Given the description of an element on the screen output the (x, y) to click on. 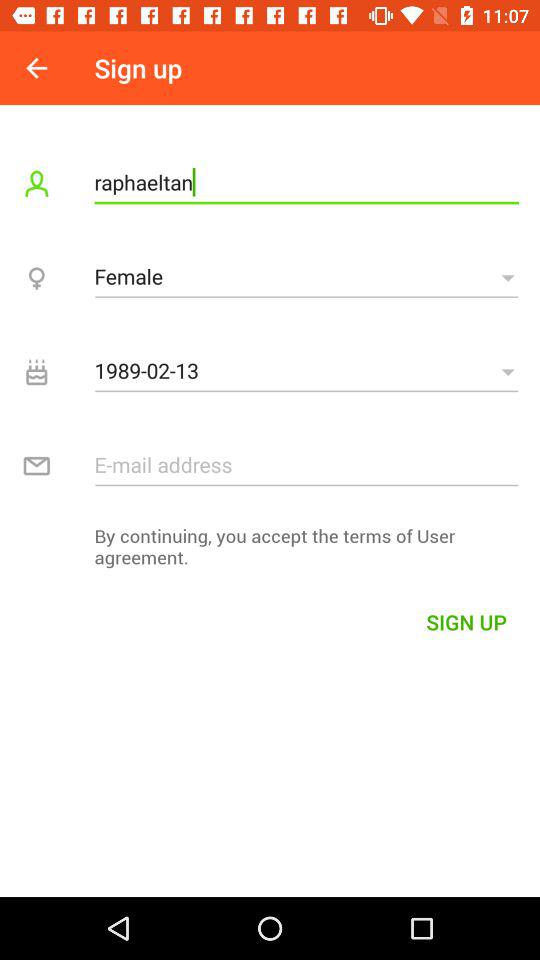
open by continuing you icon (270, 551)
